Given the description of an element on the screen output the (x, y) to click on. 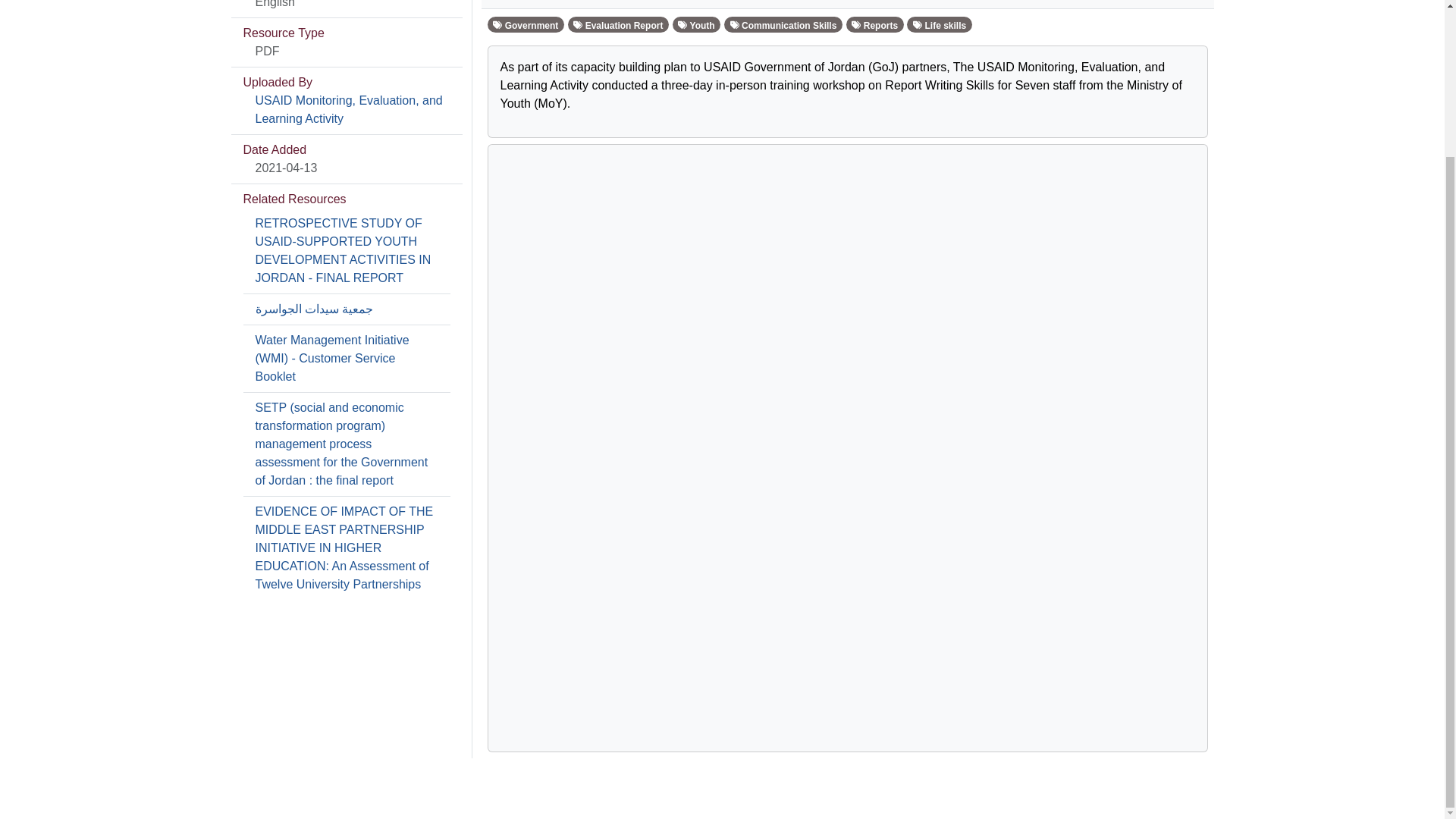
Reports (874, 24)
Youth (696, 24)
USAID Monitoring, Evaluation, and Learning Activity (348, 109)
Evaluation Report (618, 24)
Communication Skills (783, 24)
Government (525, 24)
Life skills (939, 24)
